Given the description of an element on the screen output the (x, y) to click on. 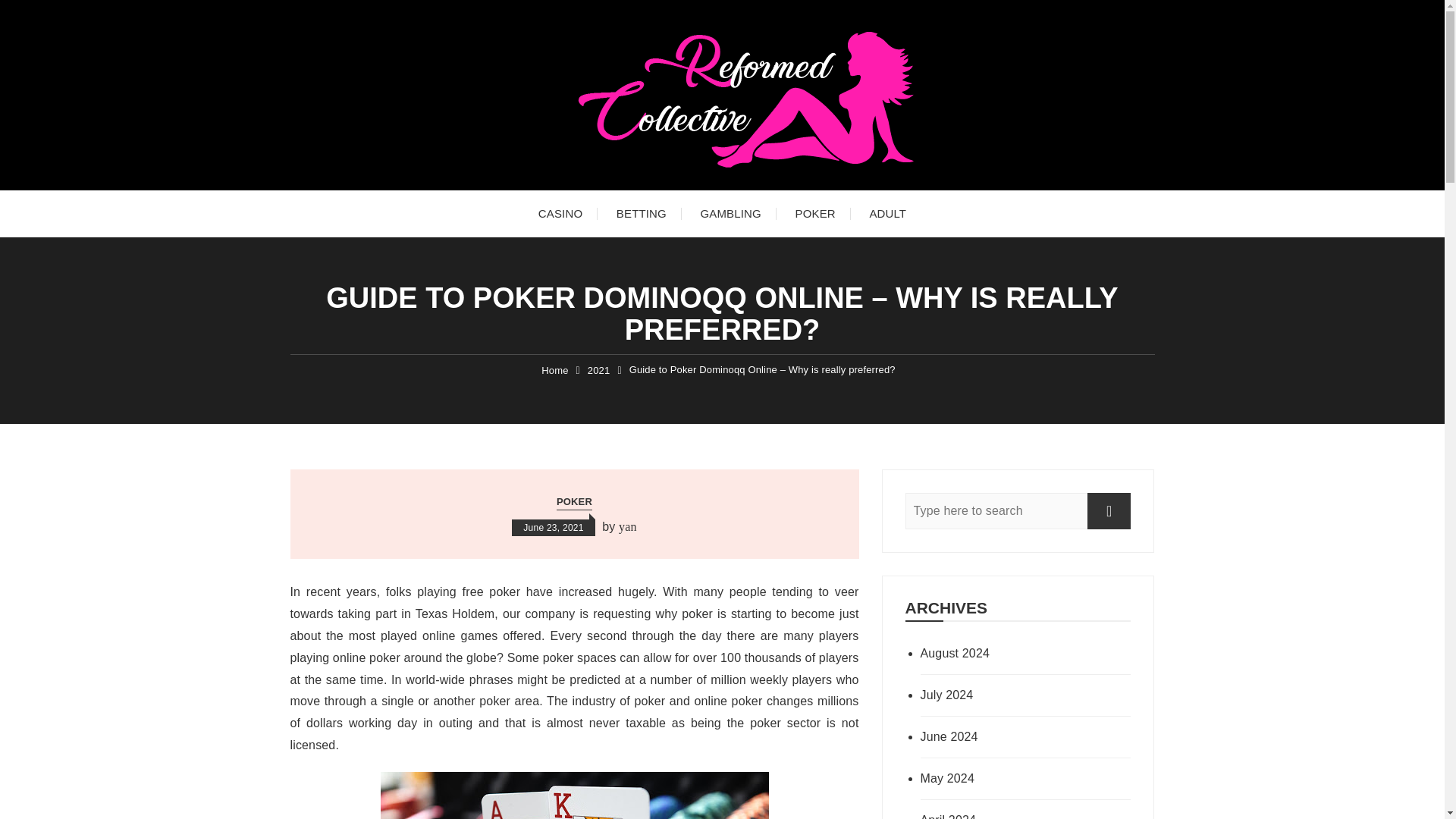
July 2024 (1004, 695)
BETTING (641, 213)
Home (554, 370)
June 23, 2021 (553, 527)
POKER (814, 213)
CASINO (559, 213)
yan (627, 526)
2021 (599, 370)
POKER (574, 502)
May 2024 (1004, 778)
